Given the description of an element on the screen output the (x, y) to click on. 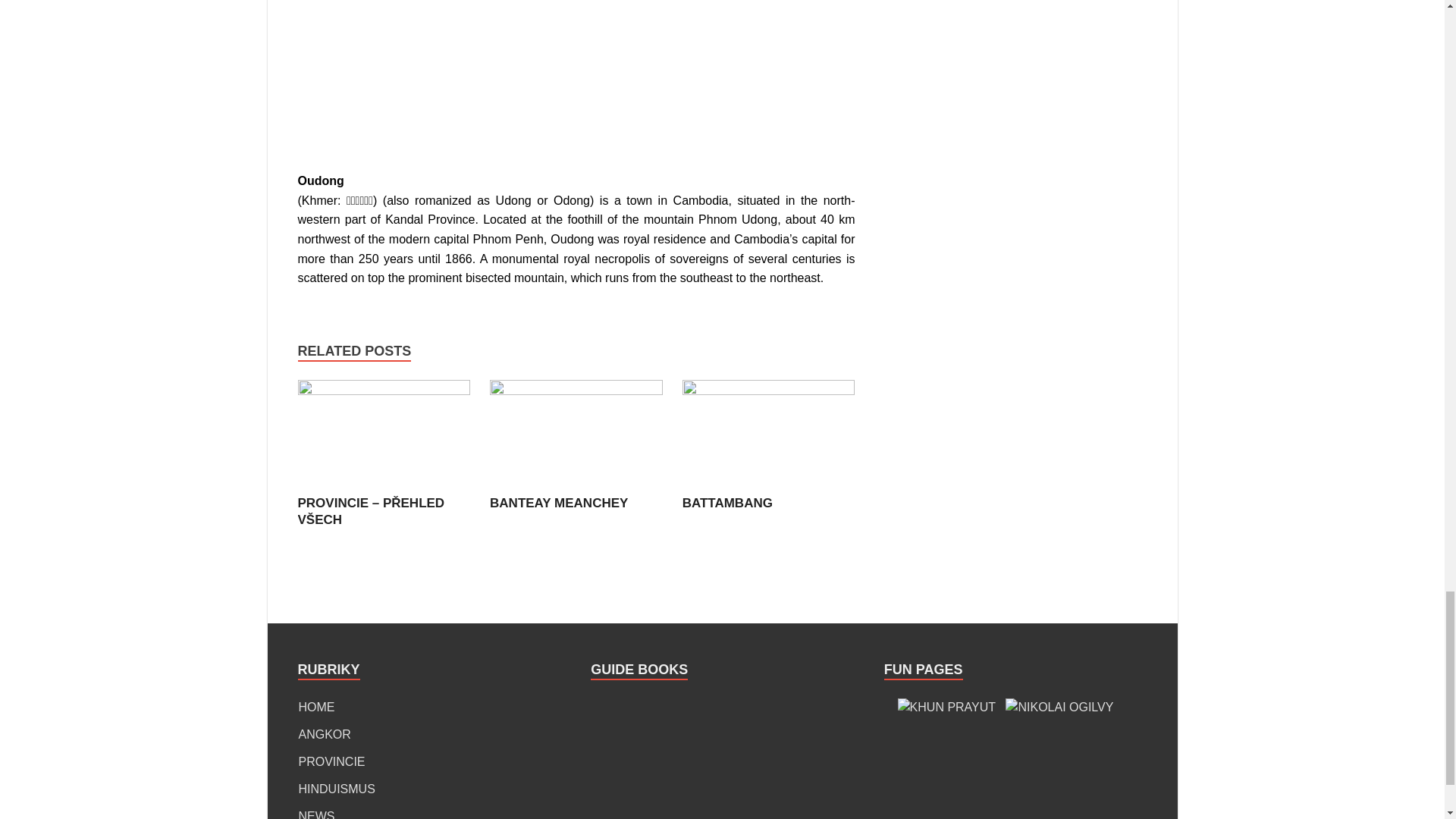
NIKOLAI OGILVY (1059, 707)
HINDUISMUS (336, 788)
ANGKOR (324, 734)
BATTAMBANG (727, 503)
PROVINCIE (331, 761)
BATTAMBANG (727, 503)
KHUN PRAYUT (946, 707)
HOME (316, 707)
BANTEAY MEANCHEY (558, 503)
BANTEAY MEANCHEY (575, 390)
